Given the description of an element on the screen output the (x, y) to click on. 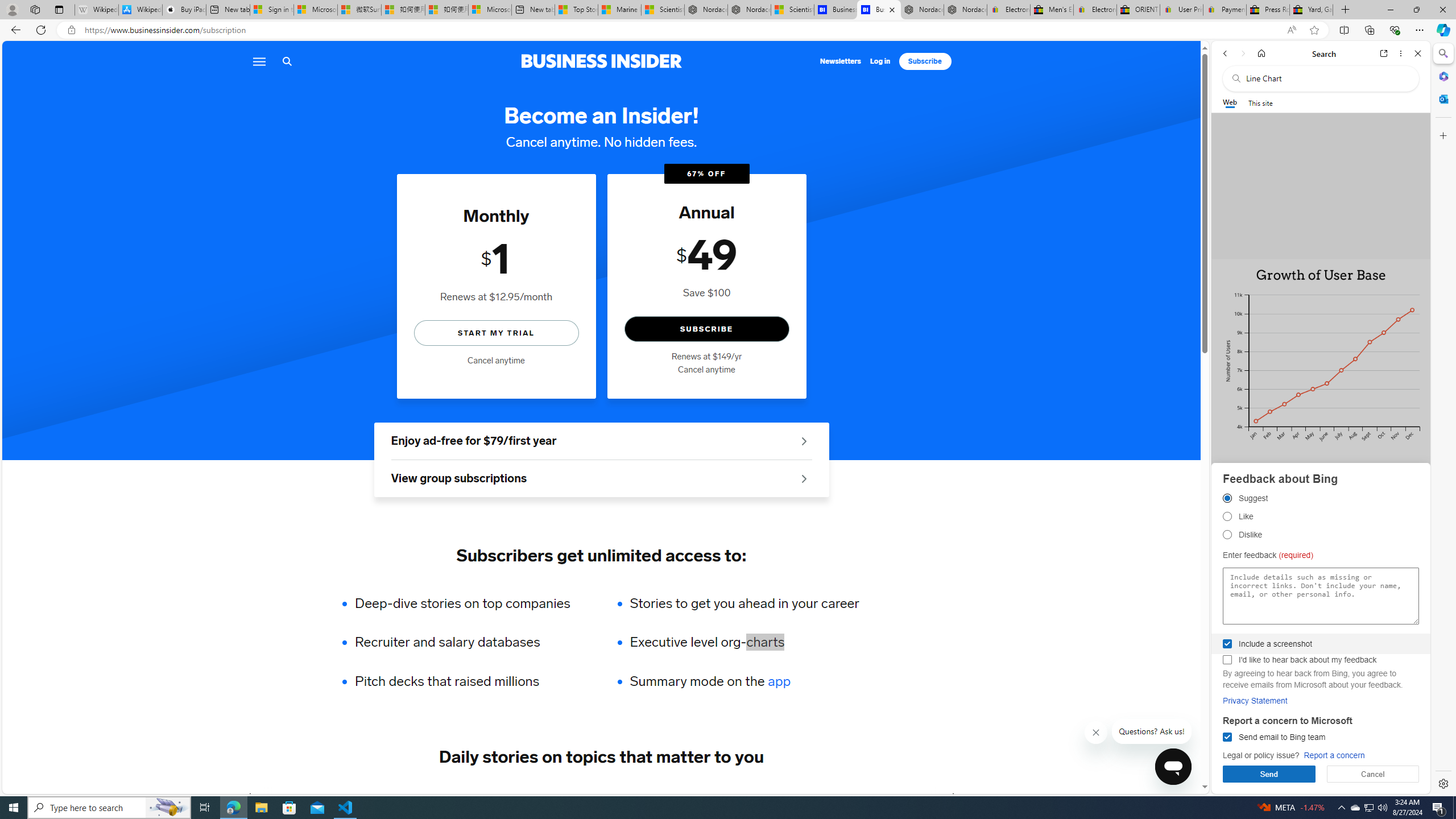
PERSONAL FINANCE (577, 796)
Send email to Bing team (1227, 737)
MEDIA (953, 796)
Close message from company (1096, 732)
View group subscriptions (601, 478)
I'd like to hear back about my feedback (1227, 659)
Business Insider logo (601, 60)
